Given the description of an element on the screen output the (x, y) to click on. 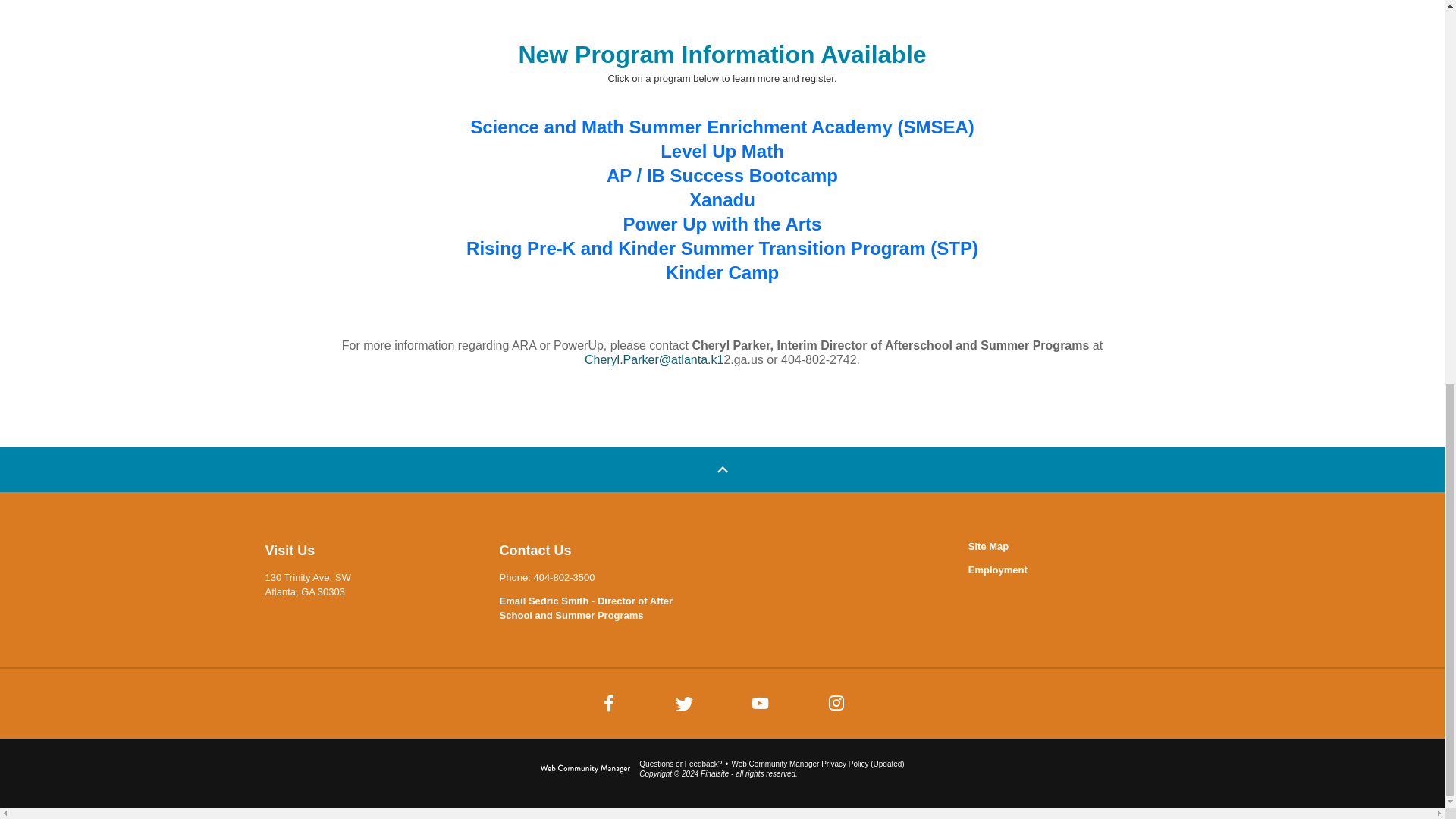
Finalsite - all rights reserved (585, 773)
Click to email the primary contact (680, 764)
Power Up Summer Programs (722, 5)
